Given the description of an element on the screen output the (x, y) to click on. 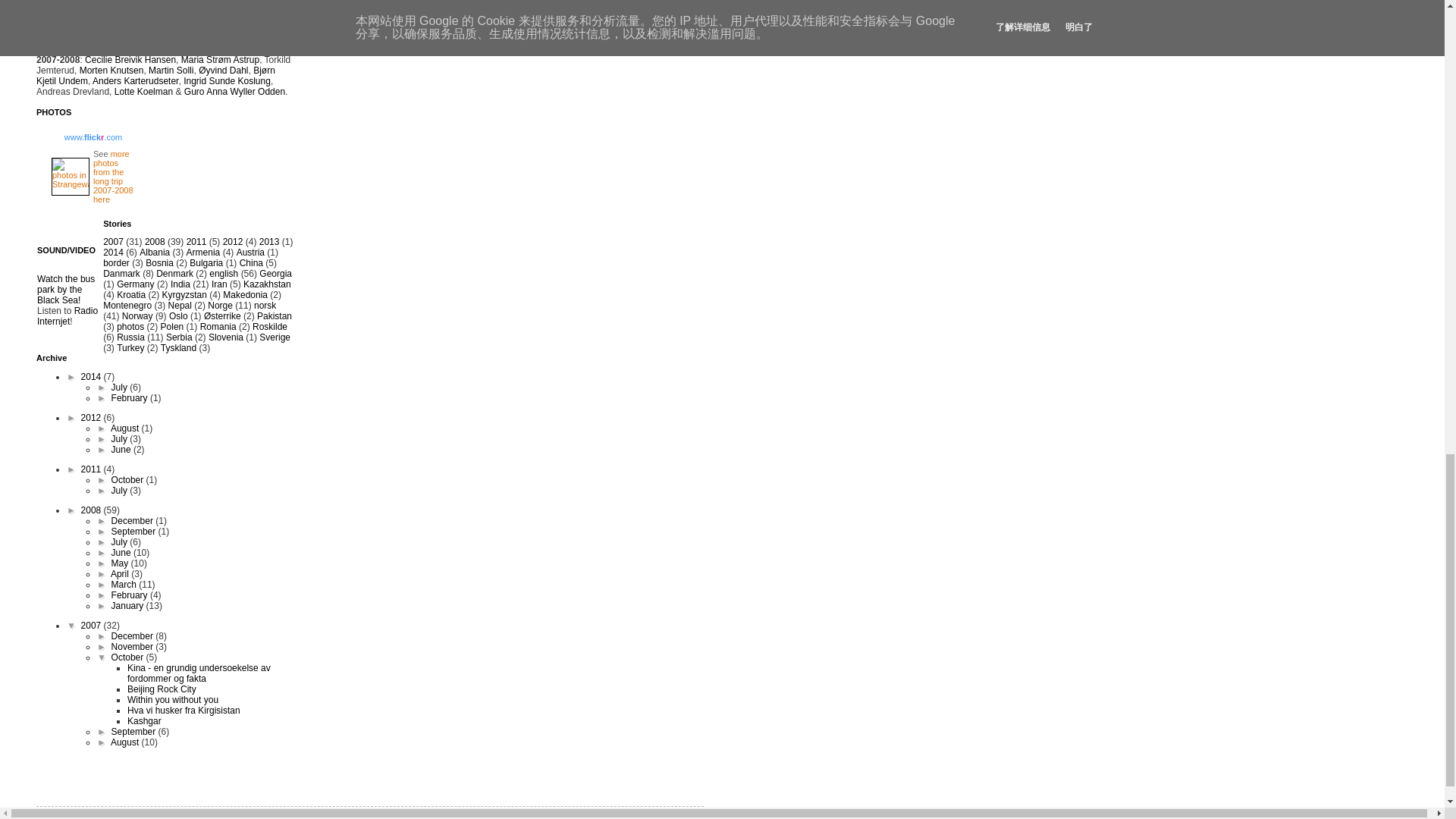
Bosnia (159, 262)
Radio Internjet (67, 315)
Austria (249, 252)
Morten Knutsen (112, 70)
border (116, 262)
2014 (113, 252)
2013 (269, 241)
2011 (196, 241)
2008 (154, 241)
www.flickr.com (92, 136)
2007 (113, 241)
Anders Karterudseter (135, 81)
Ingrid Sunde Koslung (226, 81)
2012 (232, 241)
Lotte Koelman (144, 91)
